Given the description of an element on the screen output the (x, y) to click on. 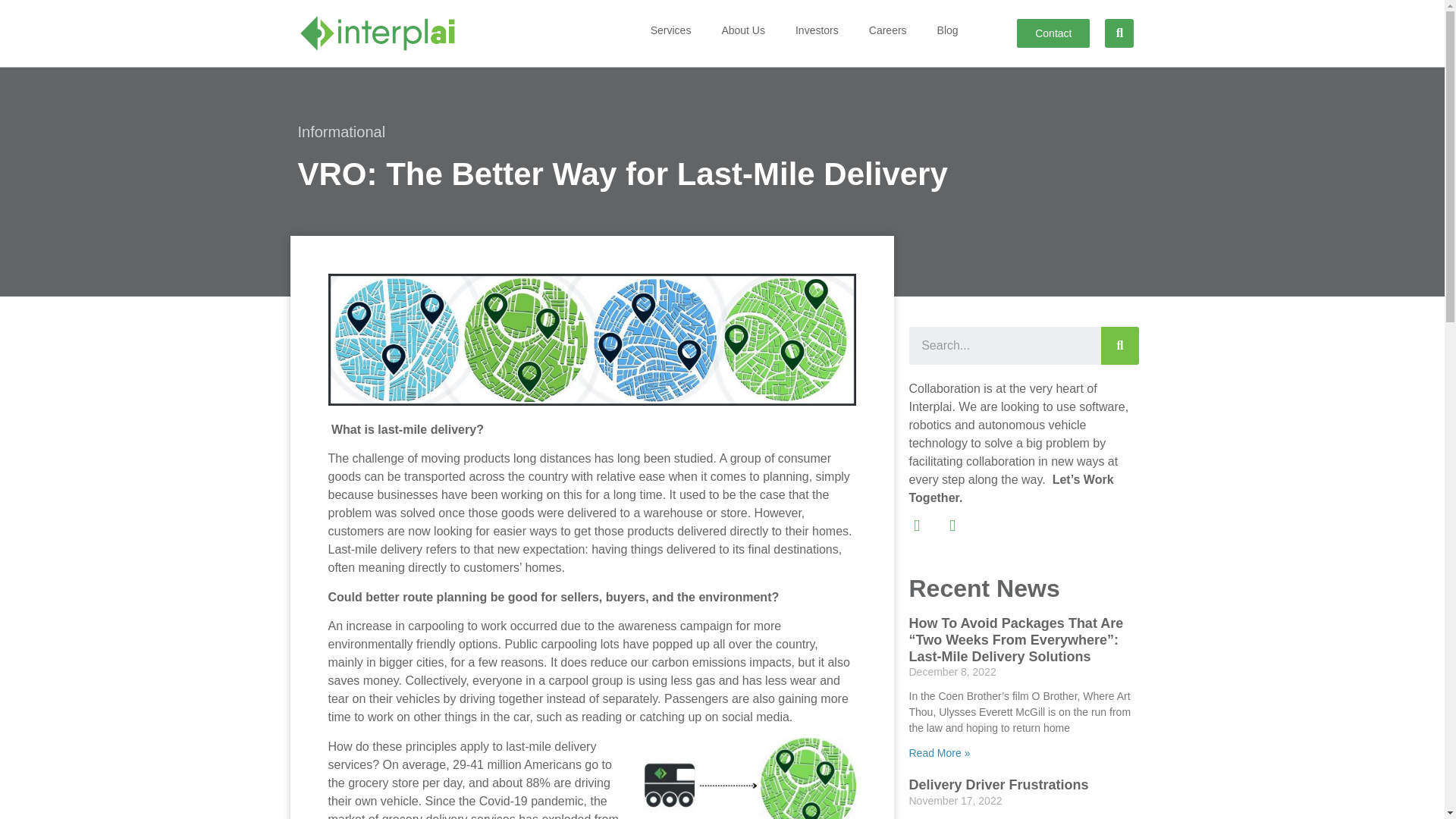
About Us (743, 30)
Services (670, 30)
Blog (947, 30)
Search (1004, 345)
Search (1119, 345)
Investors (816, 30)
Careers (887, 30)
